Given the description of an element on the screen output the (x, y) to click on. 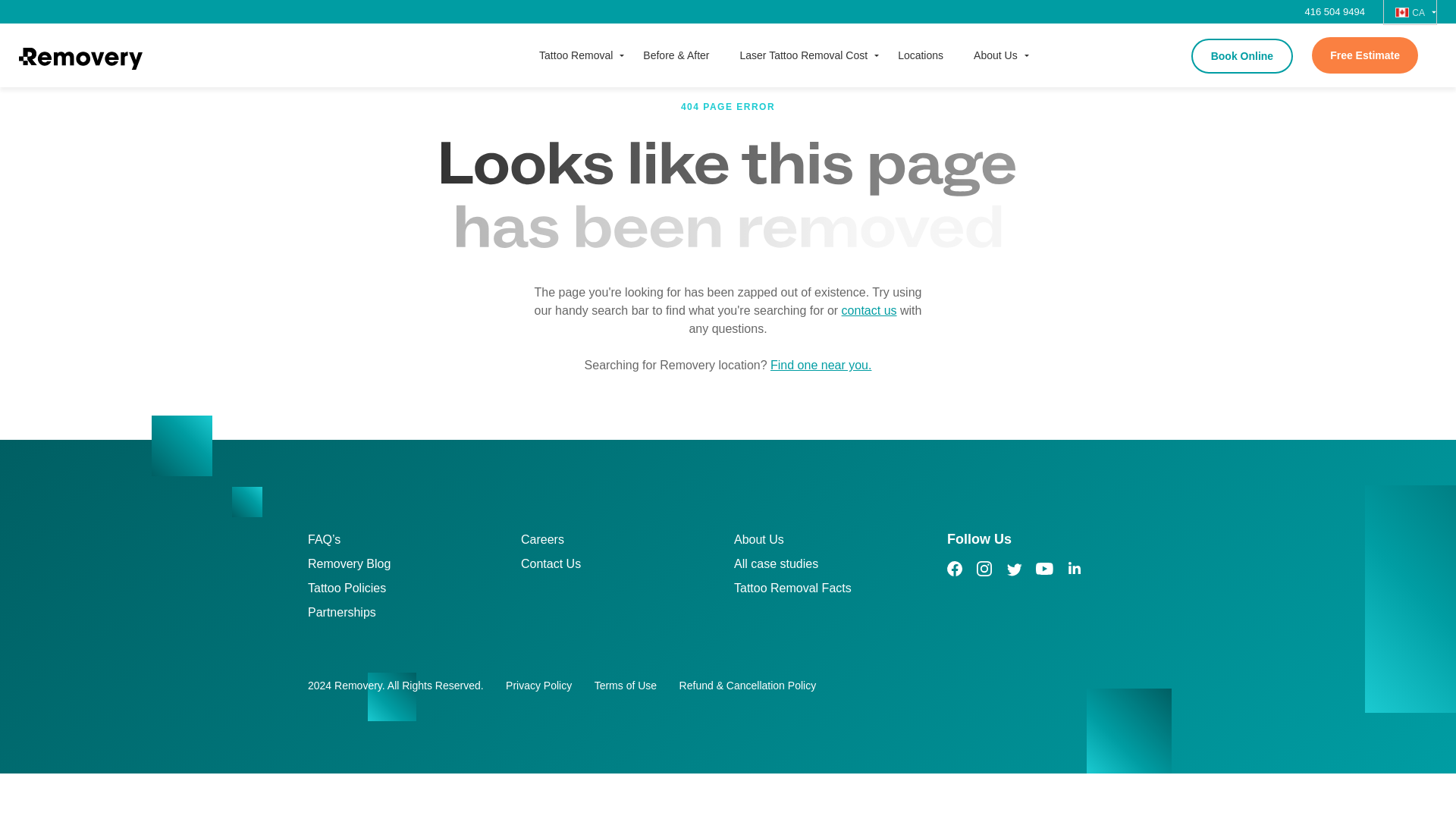
About Us (995, 55)
Tattoo Removal (575, 55)
Find one near you. (820, 365)
416 504 9494 (1339, 11)
Removery Blog (348, 567)
Locations (920, 55)
Book Online (1241, 55)
Free Estimate (1364, 54)
contact us (868, 311)
Laser Tattoo Removal Cost (804, 55)
